Given the description of an element on the screen output the (x, y) to click on. 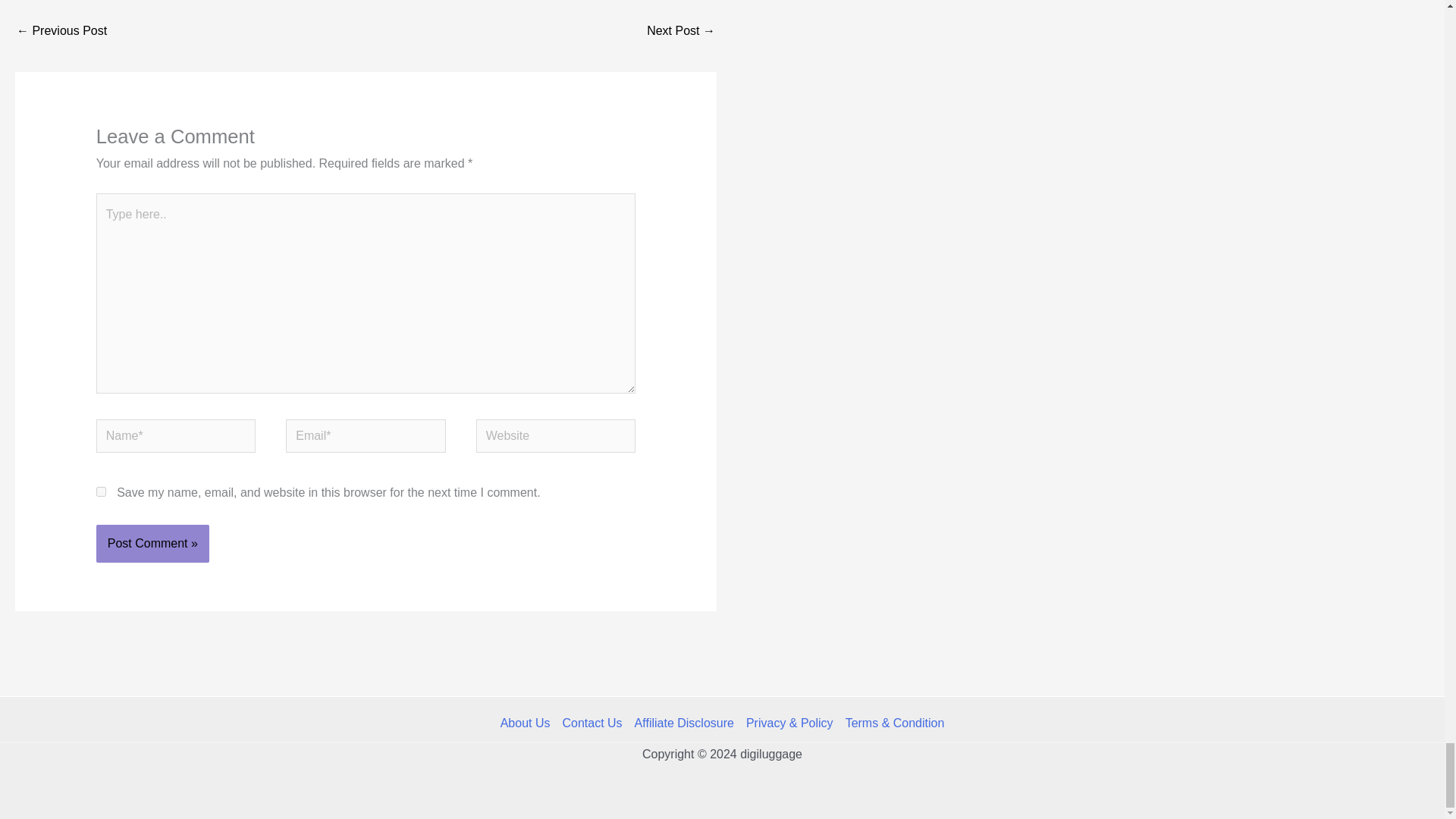
The Average Backpack Weight: How Much Does It Really Weigh (680, 31)
yes (101, 491)
The Essential Guide to What Is Allowed in a Carry On Bag (61, 31)
